Given the description of an element on the screen output the (x, y) to click on. 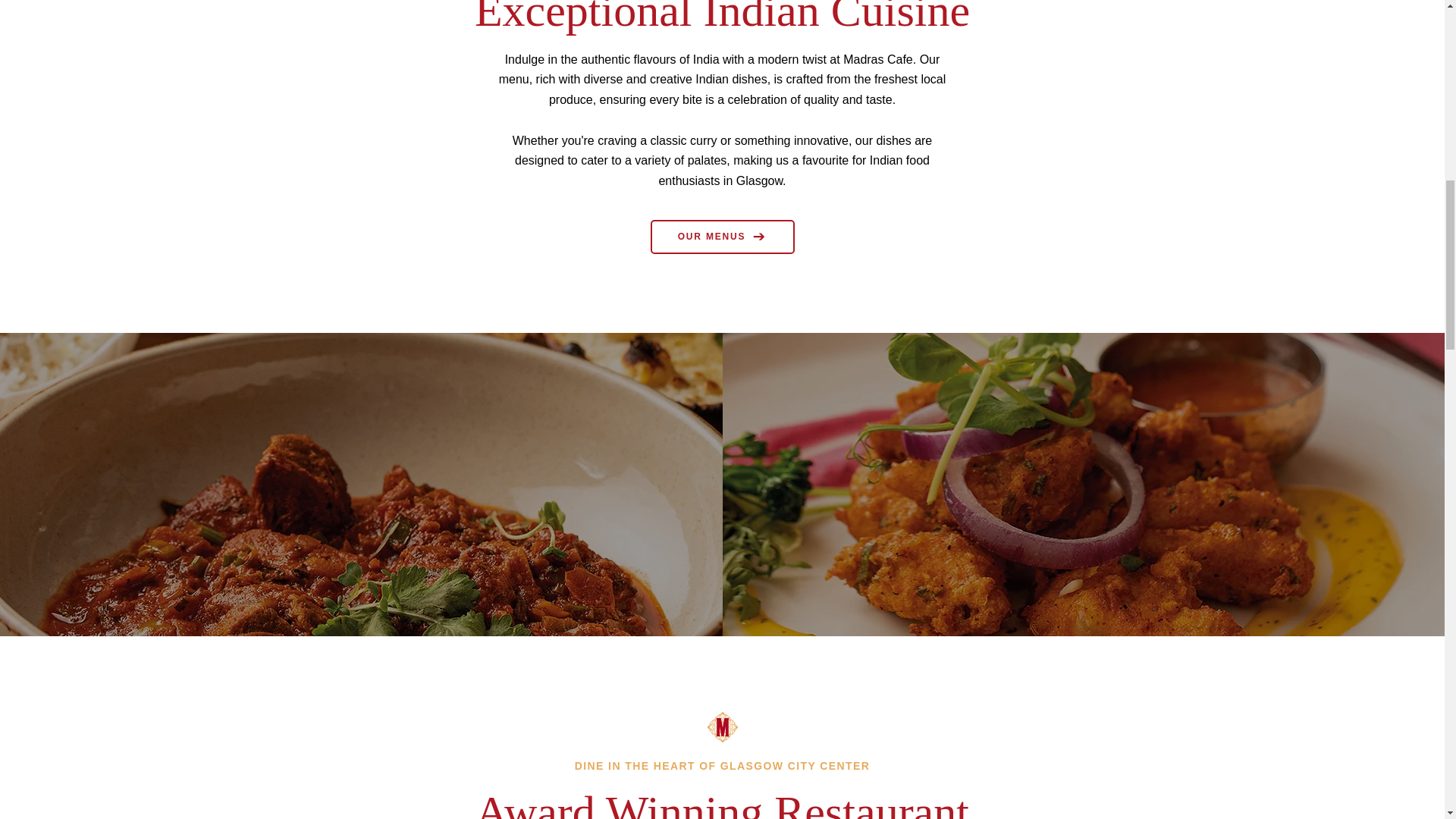
OUR MENUS (722, 236)
